Given the description of an element on the screen output the (x, y) to click on. 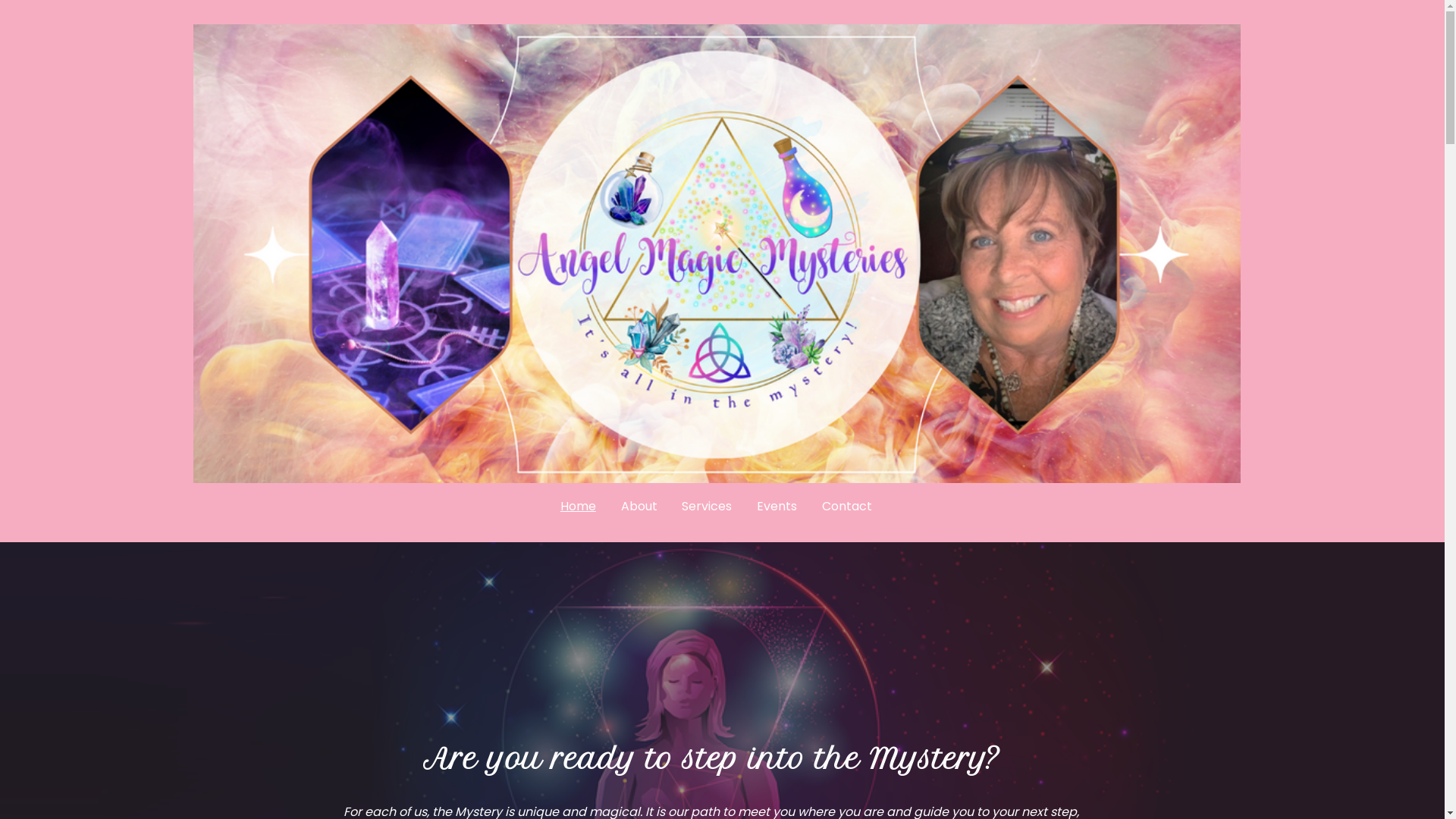
Events Element type: text (776, 506)
Services Element type: text (706, 506)
Contact Element type: text (846, 506)
Home Element type: text (577, 506)
About Element type: text (638, 506)
